Given the description of an element on the screen output the (x, y) to click on. 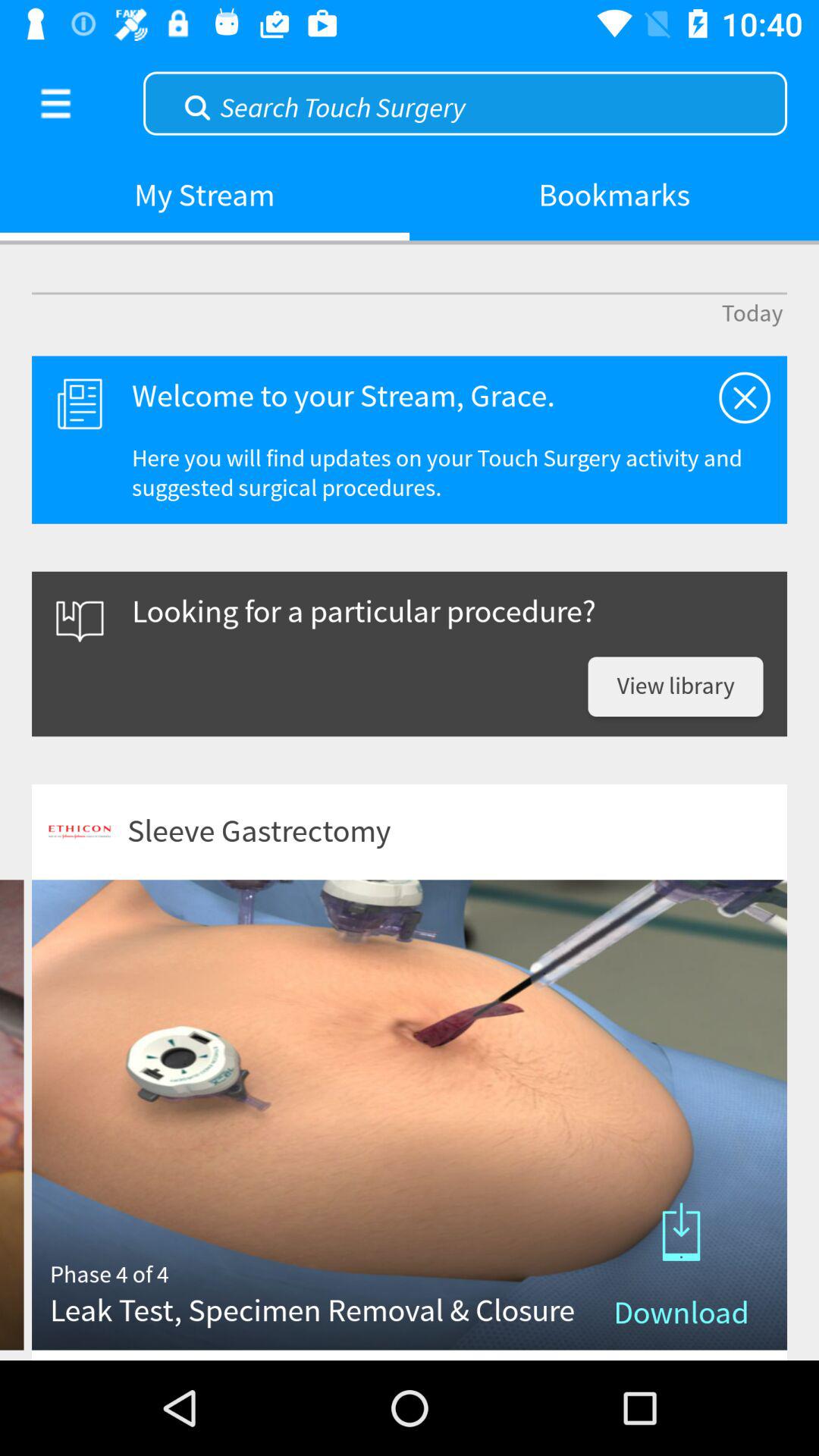
exit from a notification tab (744, 397)
